Given the description of an element on the screen output the (x, y) to click on. 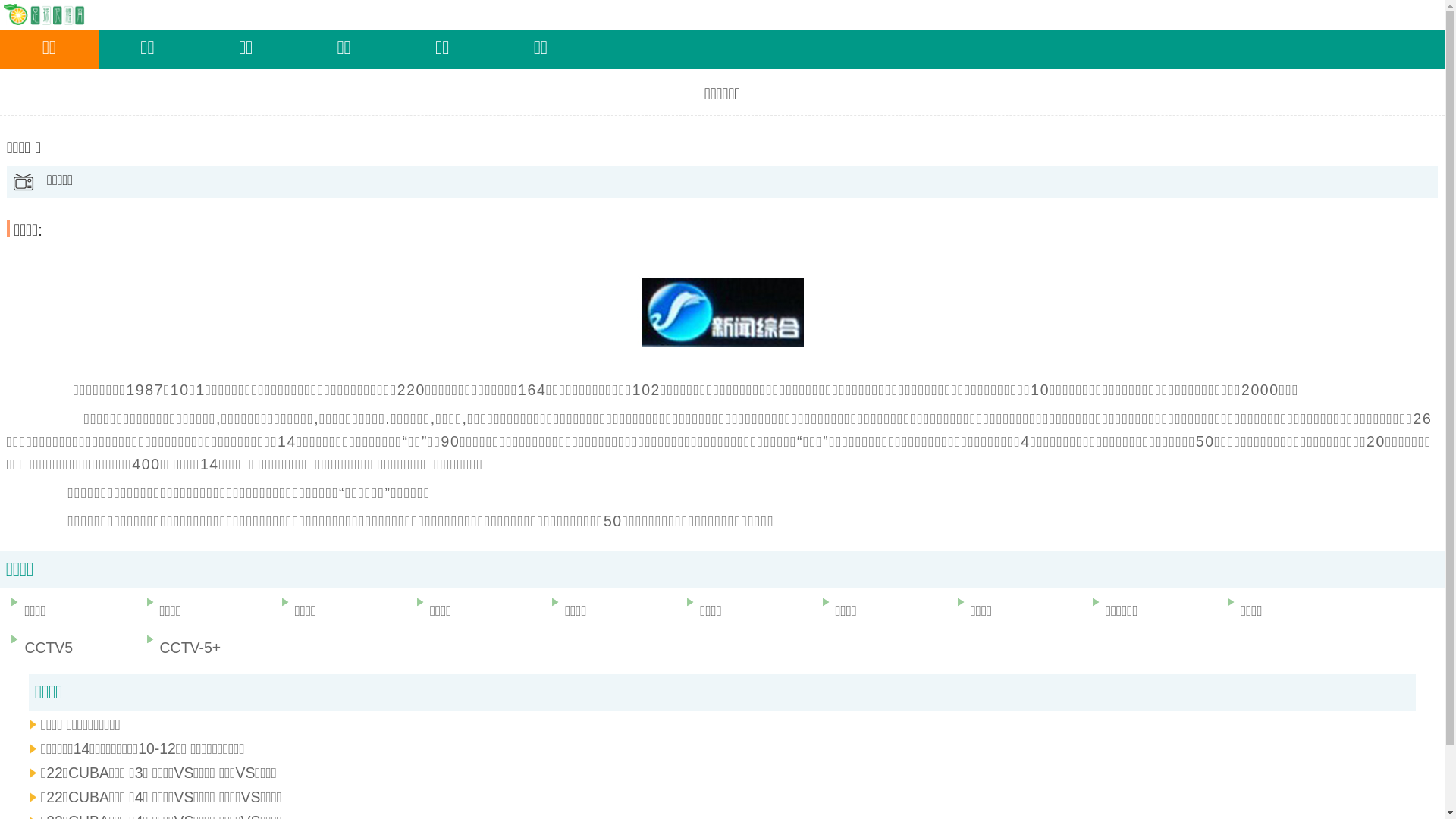
CCTV-5+ Element type: text (206, 647)
CCTV5 Element type: text (70, 647)
